Given the description of an element on the screen output the (x, y) to click on. 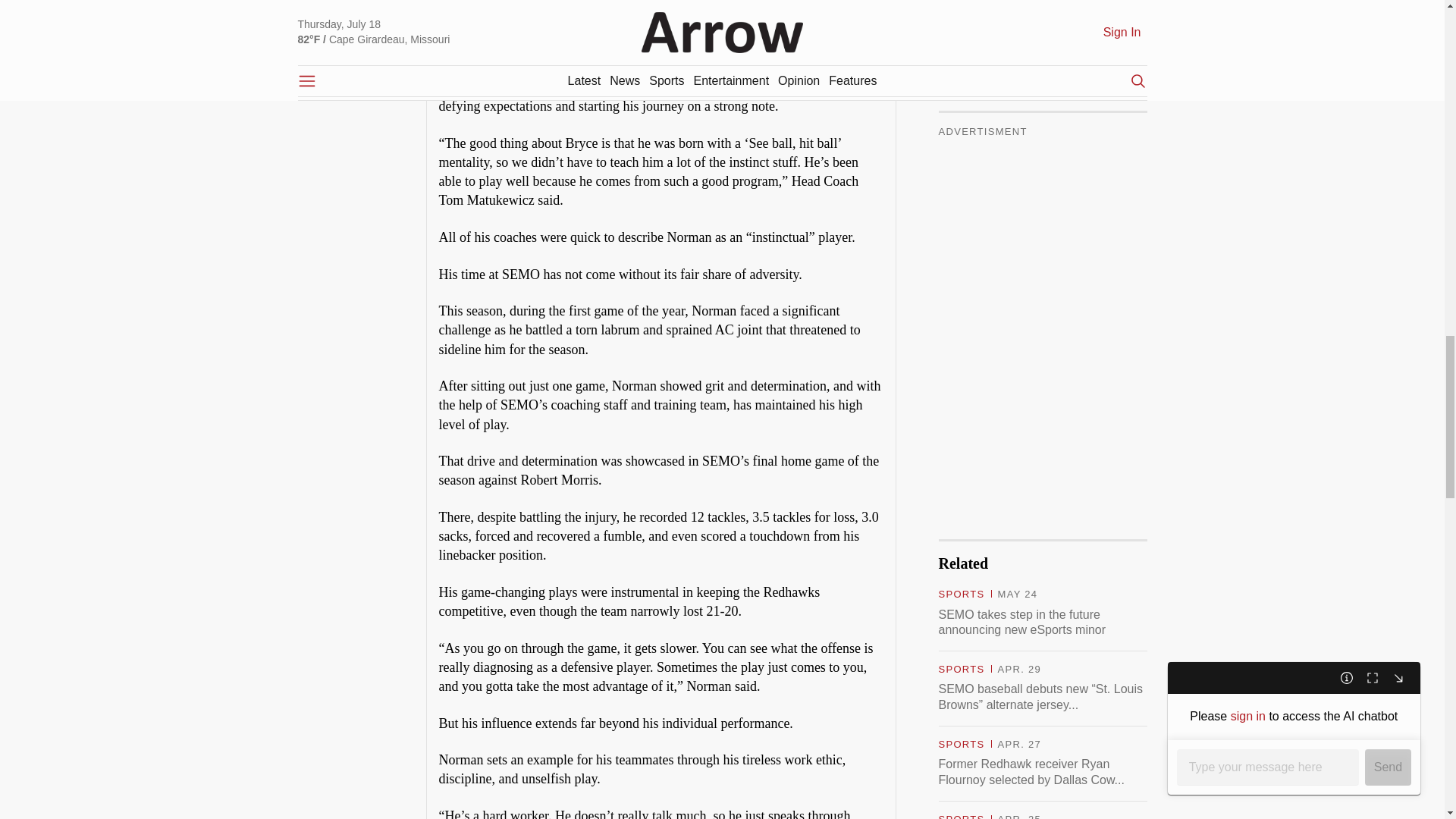
JUCO Transfer Michael Mugan Sets the tone for SEMO Baseball (1043, 122)
SPORTS (962, 94)
SPORTS (962, 19)
